Given the description of an element on the screen output the (x, y) to click on. 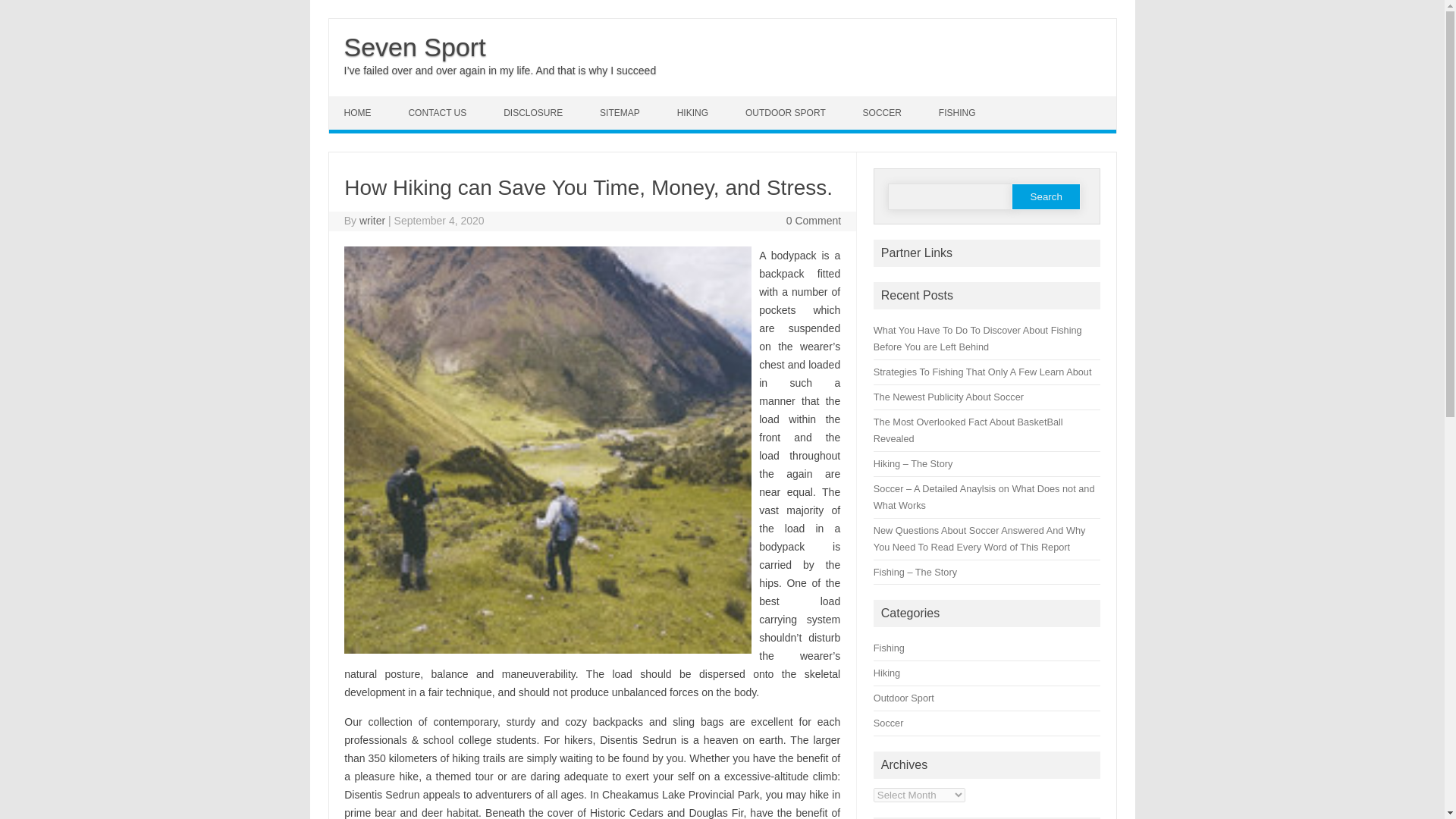
SOCCER (883, 112)
Fishing (888, 647)
Seven Sport (414, 46)
CONTACT US (438, 112)
Skip to content (363, 101)
Soccer (888, 722)
SITEMAP (622, 112)
HIKING (694, 112)
The Most Overlooked Fact About BasketBall Revealed (967, 430)
Search (1045, 196)
HOME (359, 112)
Outdoor Sport (903, 697)
Hiking (886, 672)
Posts by writer (372, 220)
